Given the description of an element on the screen output the (x, y) to click on. 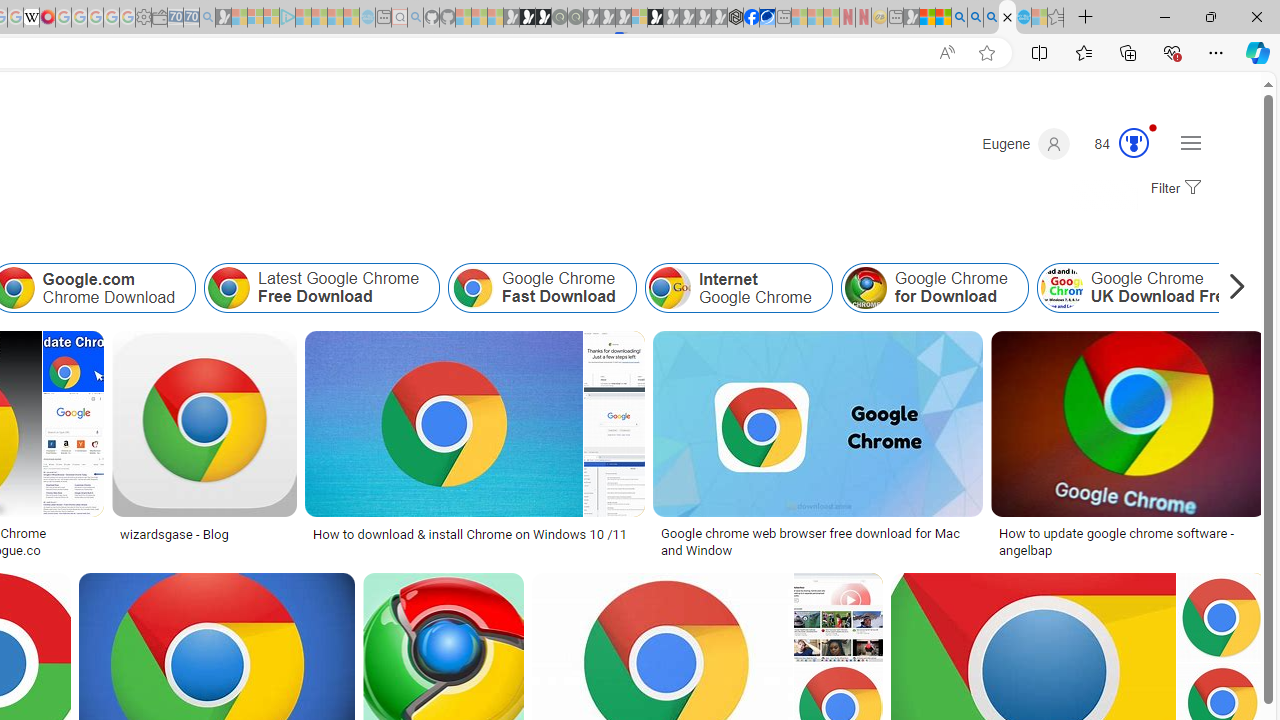
Services - Maintenance | Sky Blue Bikes - Sky Blue Bikes (1023, 17)
Settings - Sleeping (143, 17)
MSN - Sleeping (911, 17)
Microsoft Start - Sleeping (335, 17)
Image result for Google Chrome Internet Browser Download (1127, 423)
AirNow.gov (767, 17)
